Given the description of an element on the screen output the (x, y) to click on. 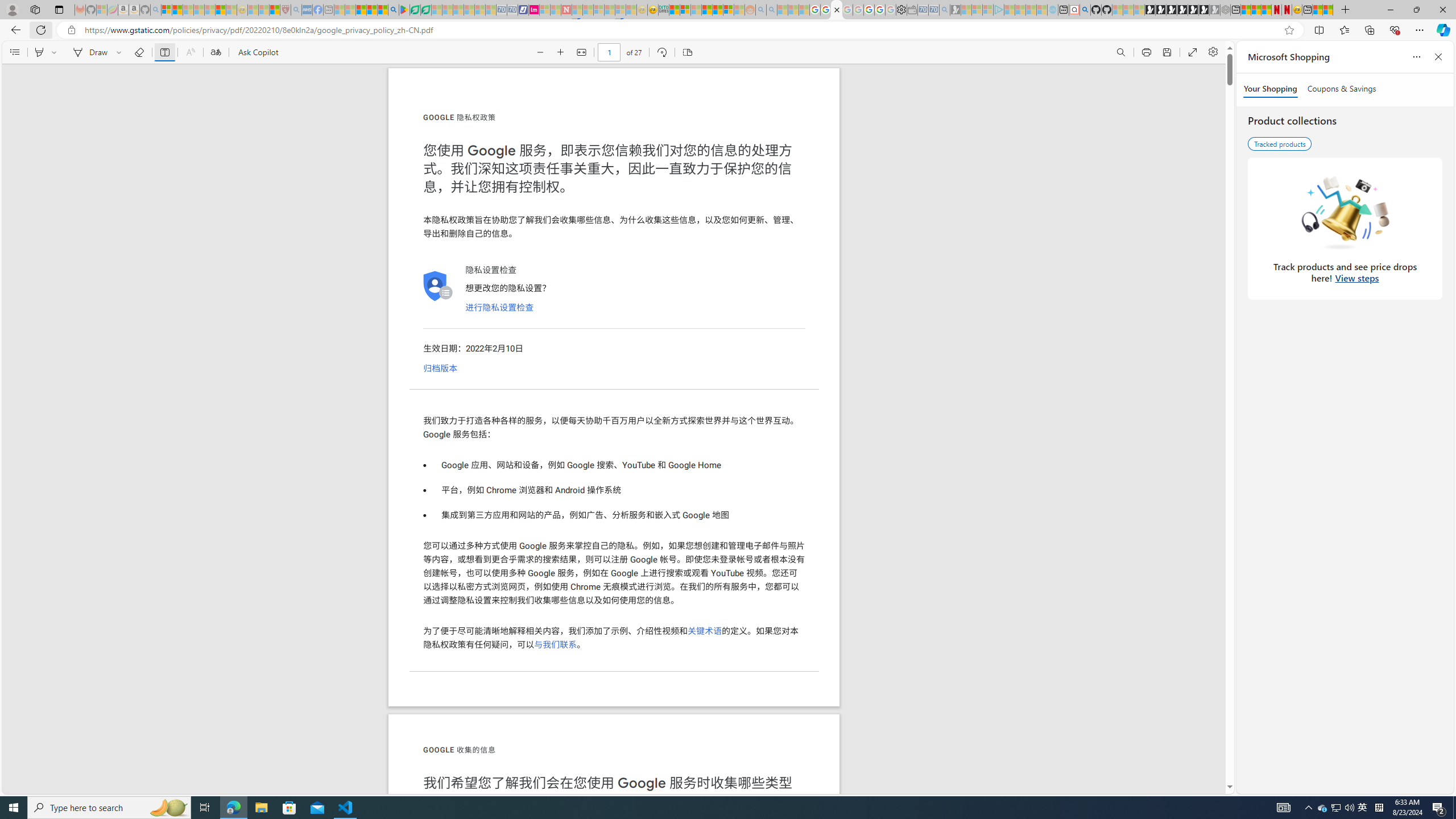
Bluey: Let's Play! - Apps on Google Play (404, 9)
Add text (164, 52)
Page number (609, 52)
Select ink properties (120, 52)
Zoom out (Ctrl+Minus key) (540, 52)
